Given the description of an element on the screen output the (x, y) to click on. 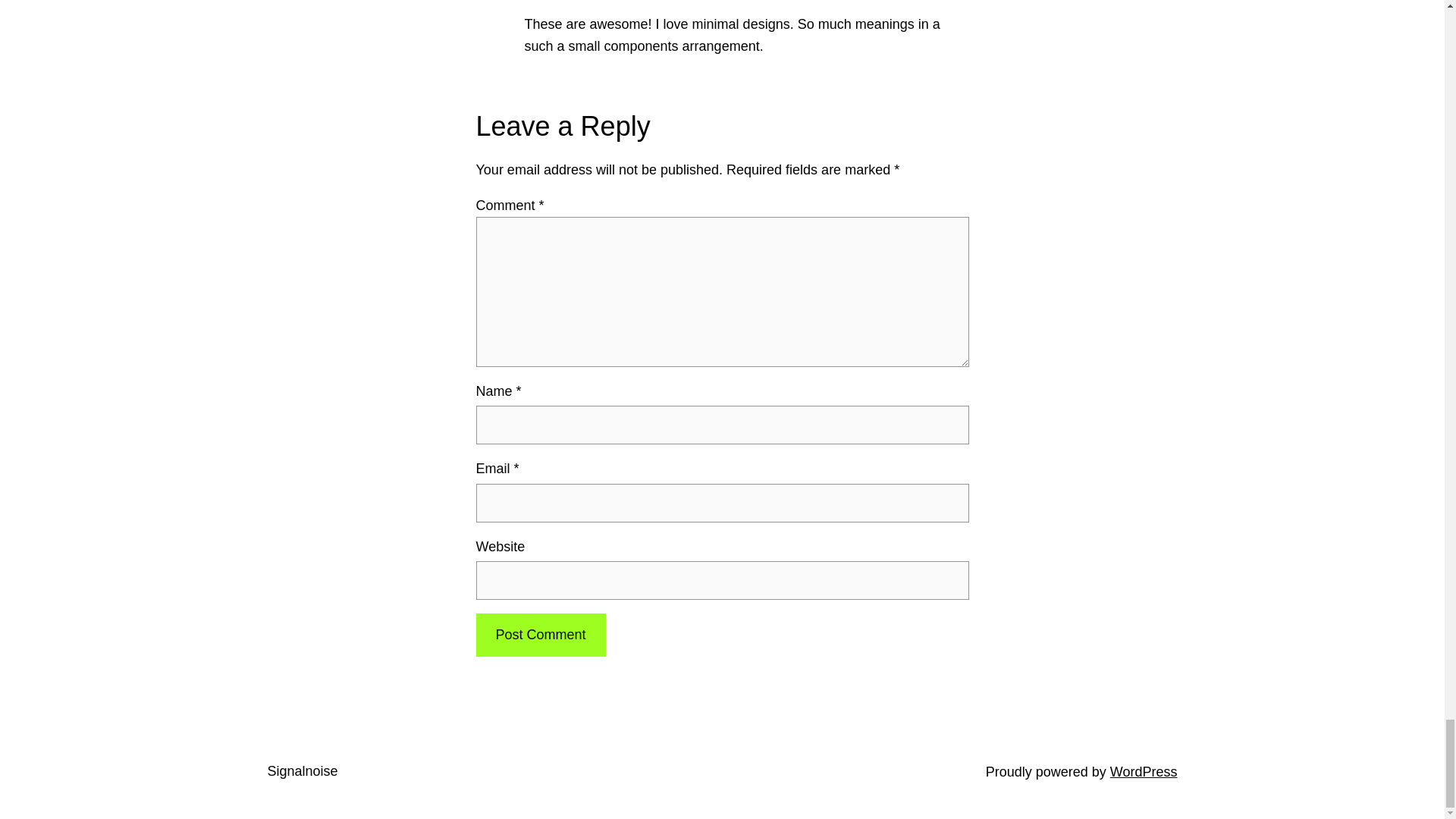
WordPress (1143, 771)
Signalnoise (301, 770)
Post Comment (540, 634)
Post Comment (540, 634)
